Given the description of an element on the screen output the (x, y) to click on. 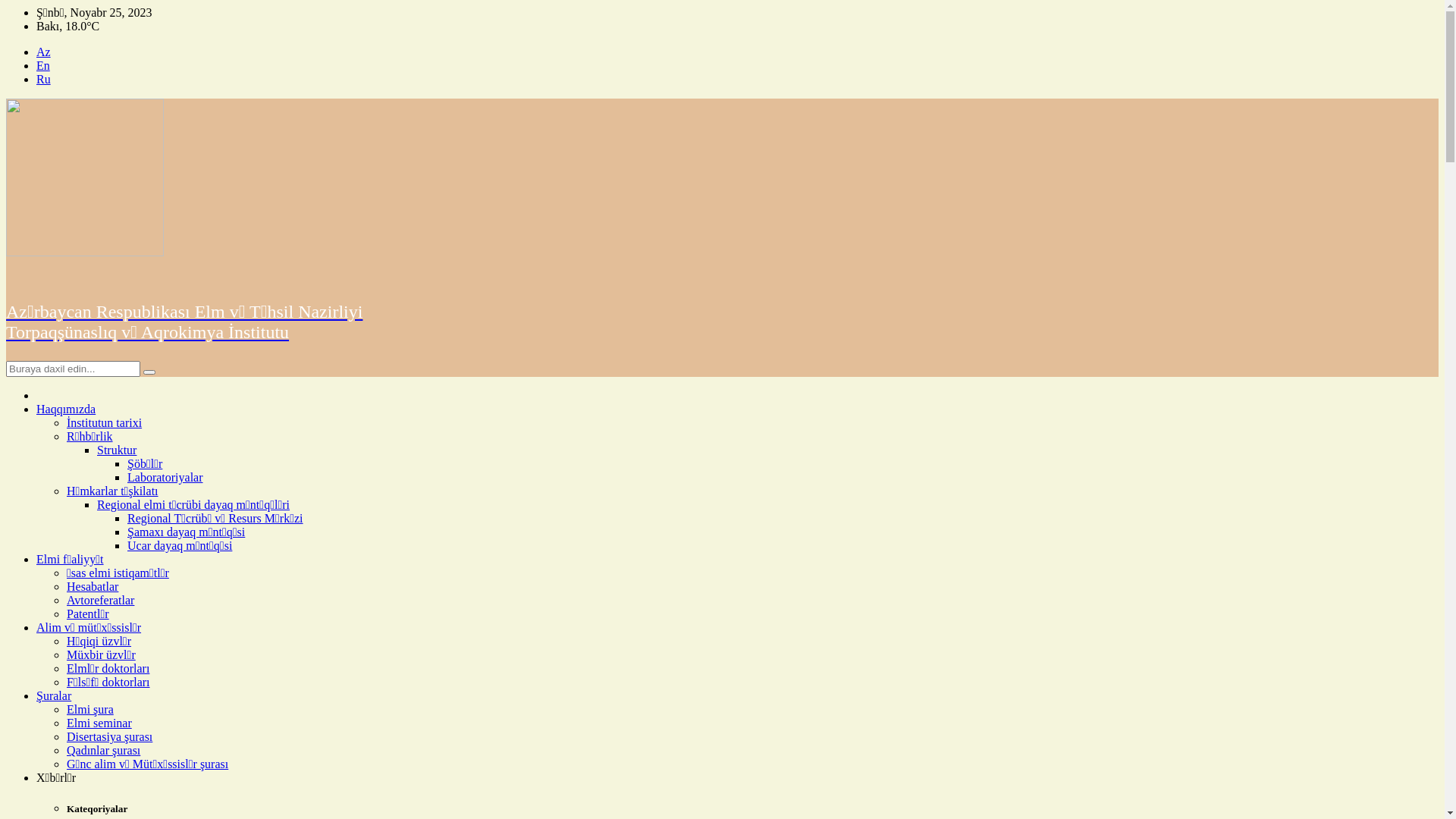
Hesabatlar Element type: text (92, 586)
Elmi seminar Element type: text (98, 722)
Struktur Element type: text (116, 449)
Avtoreferatlar Element type: text (100, 599)
Az Element type: text (43, 51)
Ru Element type: text (43, 78)
En Element type: text (43, 65)
Laboratoriyalar Element type: text (165, 476)
